Given the description of an element on the screen output the (x, y) to click on. 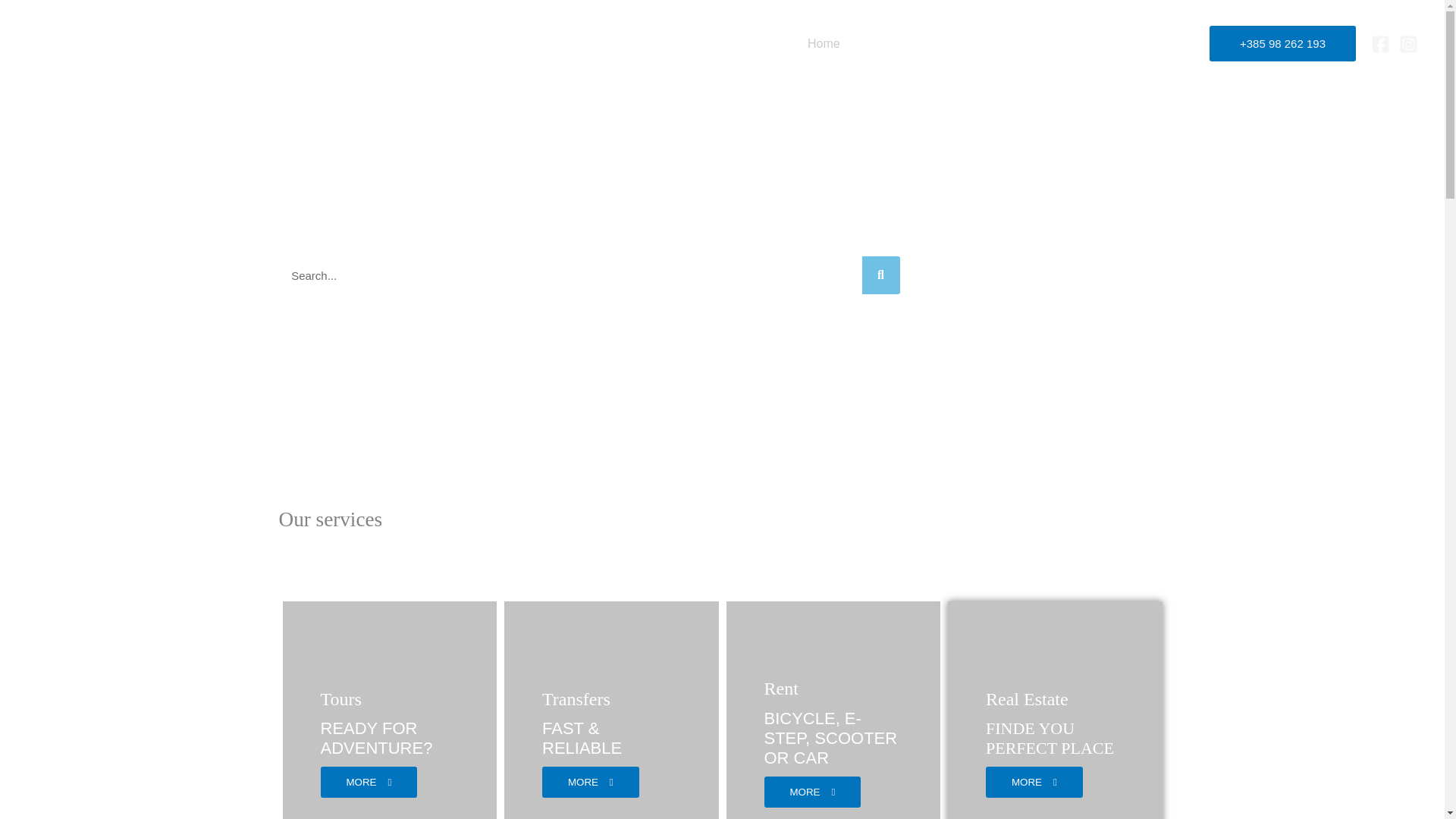
Search (880, 275)
Home (822, 42)
Transfers (948, 42)
Real Estate (1084, 42)
Transfers (575, 699)
Contact (1160, 42)
Tours (340, 699)
READY FOR ADVENTURE? (376, 738)
MORE (368, 781)
Rent (1016, 42)
Tours (878, 42)
